Given the description of an element on the screen output the (x, y) to click on. 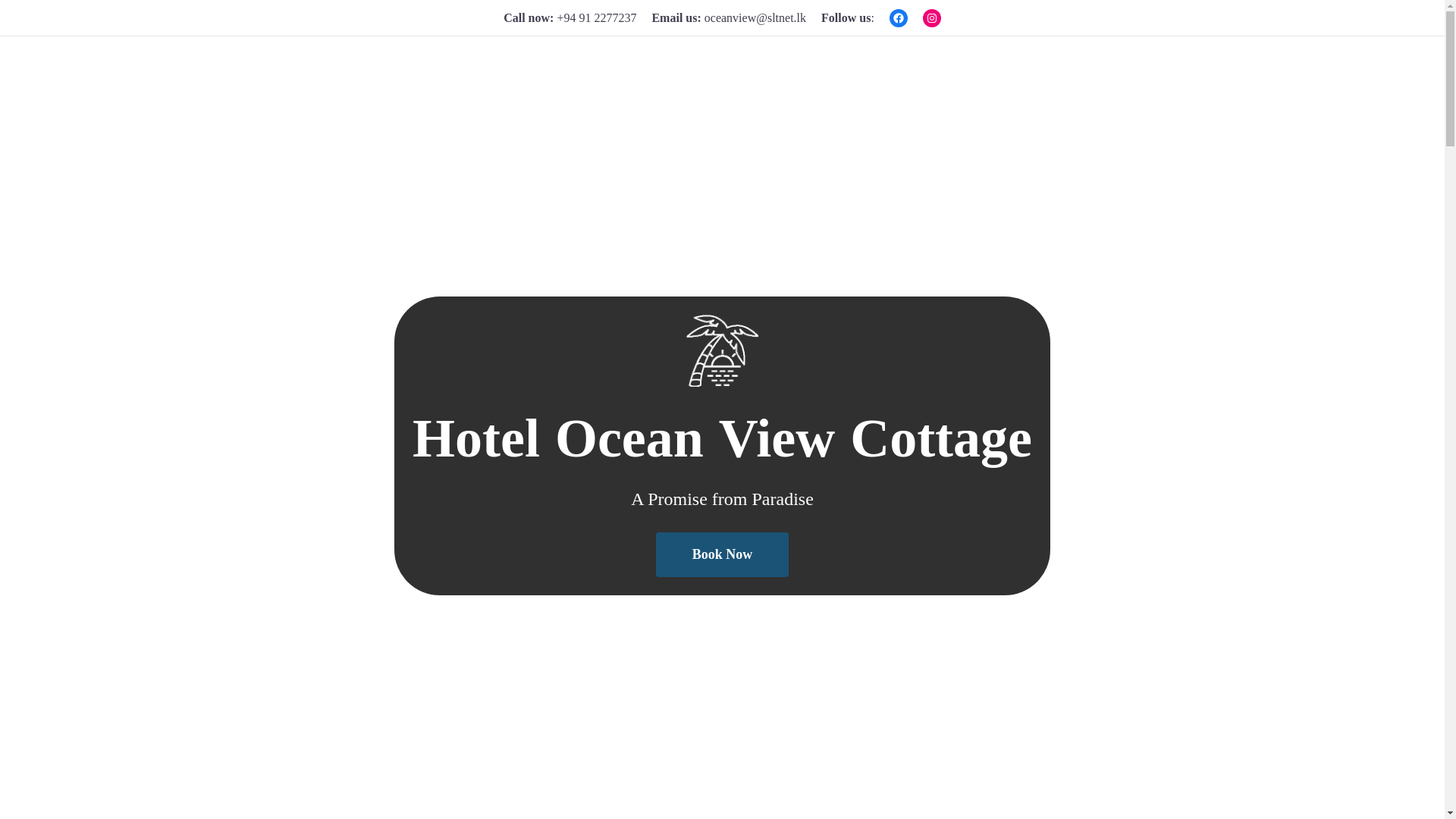
Facebook (898, 18)
Book Now (722, 554)
Instagram (931, 18)
